Given the description of an element on the screen output the (x, y) to click on. 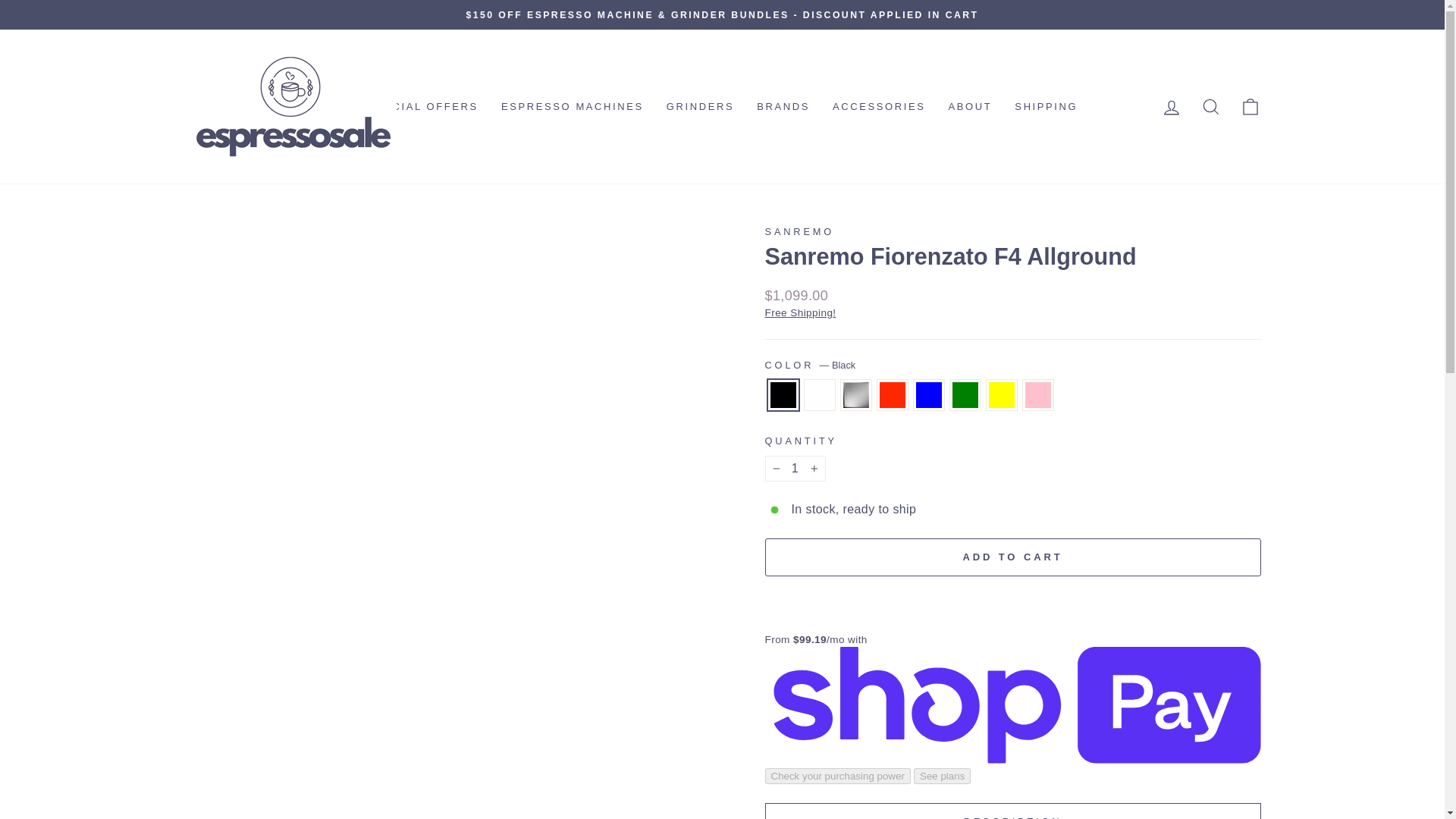
SPECIAL OFFERS (422, 106)
ESPRESSO MACHINES (572, 106)
